Given the description of an element on the screen output the (x, y) to click on. 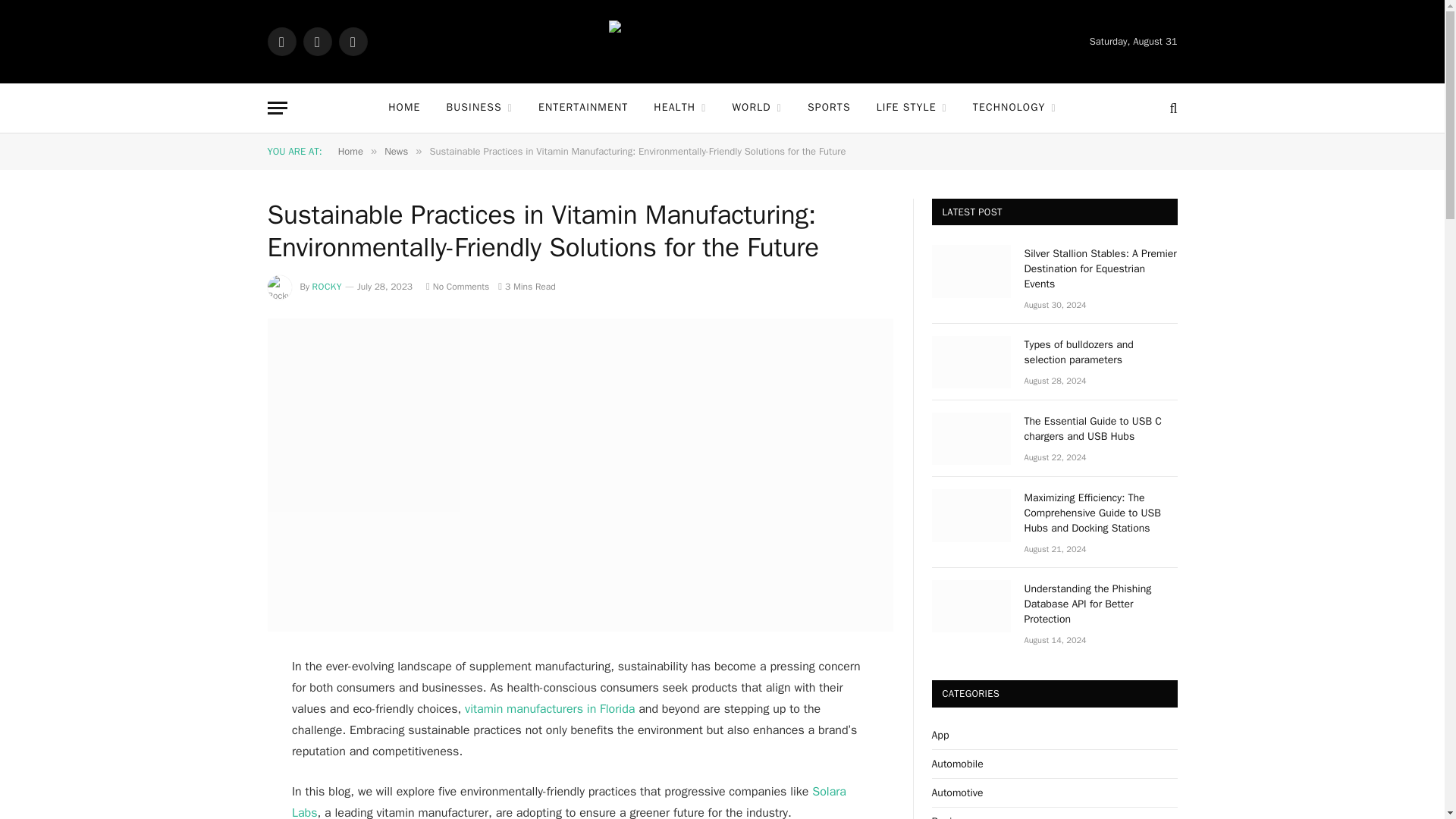
LIFE STYLE (911, 107)
Posts by Rocky (327, 286)
News (395, 151)
HOME (403, 107)
TamilDada (721, 41)
Home (349, 151)
ROCKY (327, 286)
TECHNOLOGY (1013, 107)
HEALTH (679, 107)
